Given the description of an element on the screen output the (x, y) to click on. 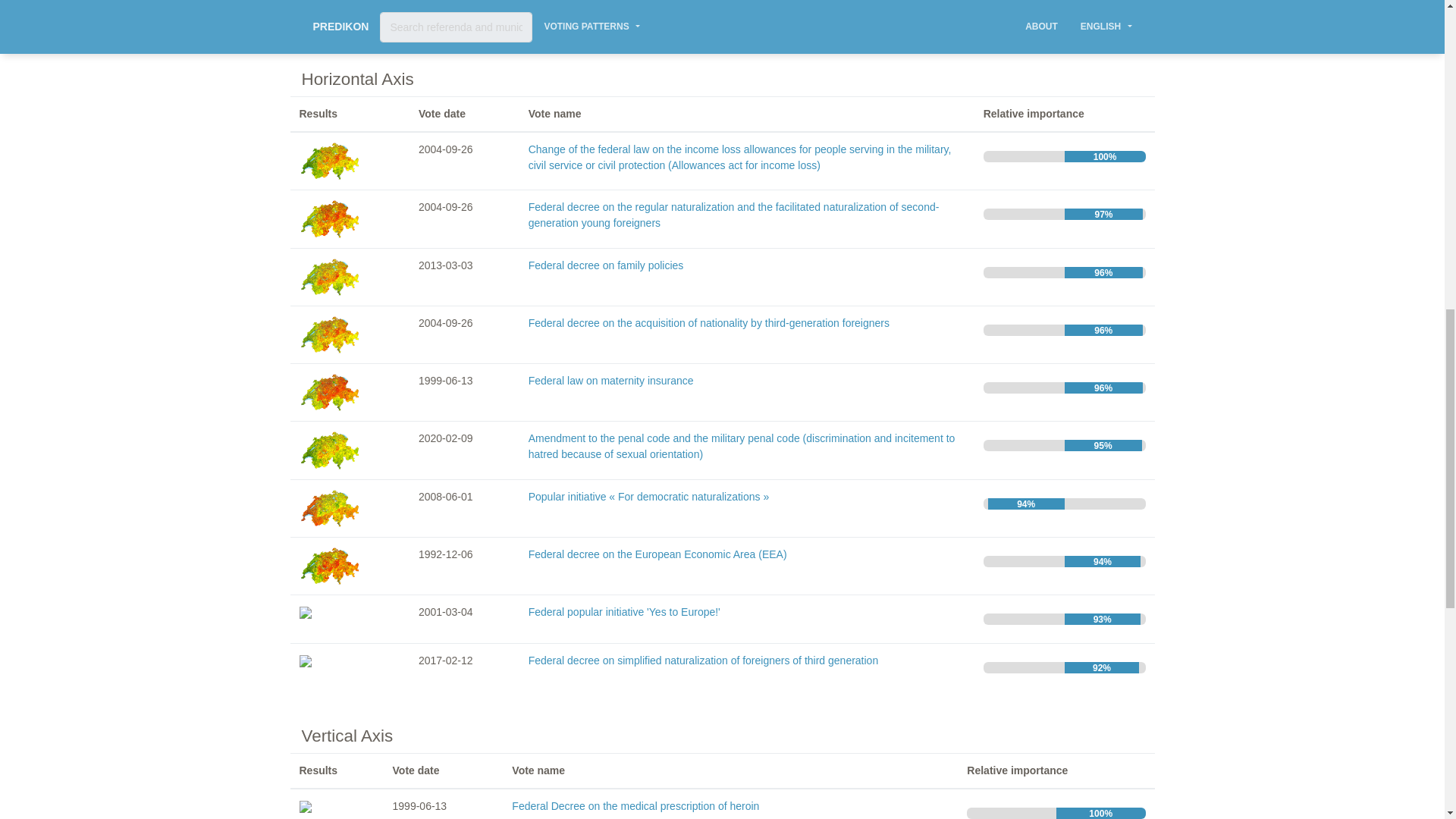
Federal Decree on the medical prescription of heroin (635, 806)
Federal popular initiative 'Yes to Europe!' (624, 612)
Federal decree on family policies (606, 265)
Federal law on maternity insurance (611, 380)
